Given the description of an element on the screen output the (x, y) to click on. 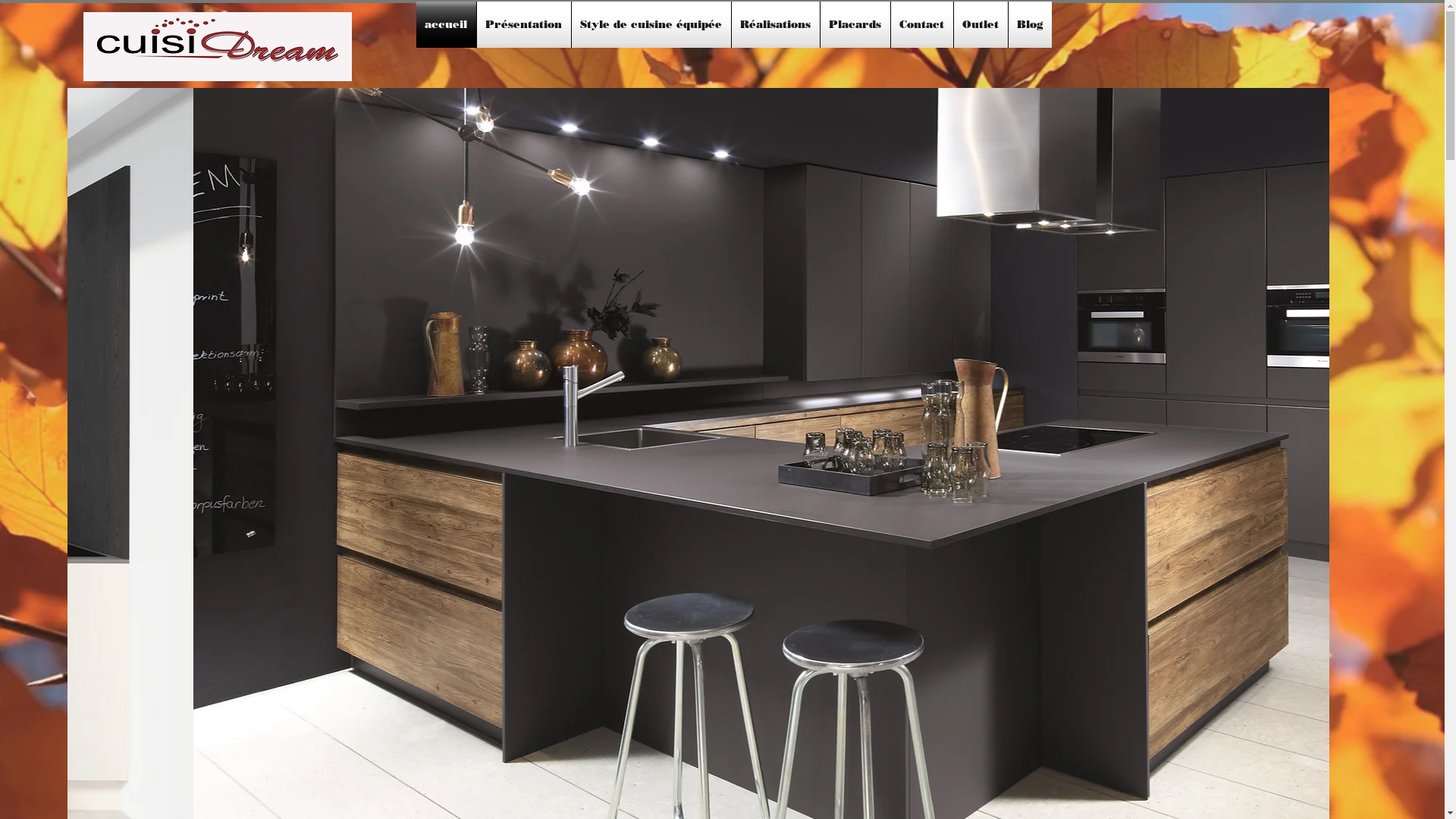
accueil Element type: text (445, 24)
Outlet Element type: text (980, 24)
Contact Element type: text (921, 24)
schmidt Element type: text (660, 673)
eggersmann Element type: text (667, 712)
Blog Element type: text (1029, 24)
cuisine constant. Element type: text (782, 791)
Placards Element type: text (855, 24)
cuisine leicht. Element type: text (778, 752)
cuisine grando Element type: text (779, 765)
